Given the description of an element on the screen output the (x, y) to click on. 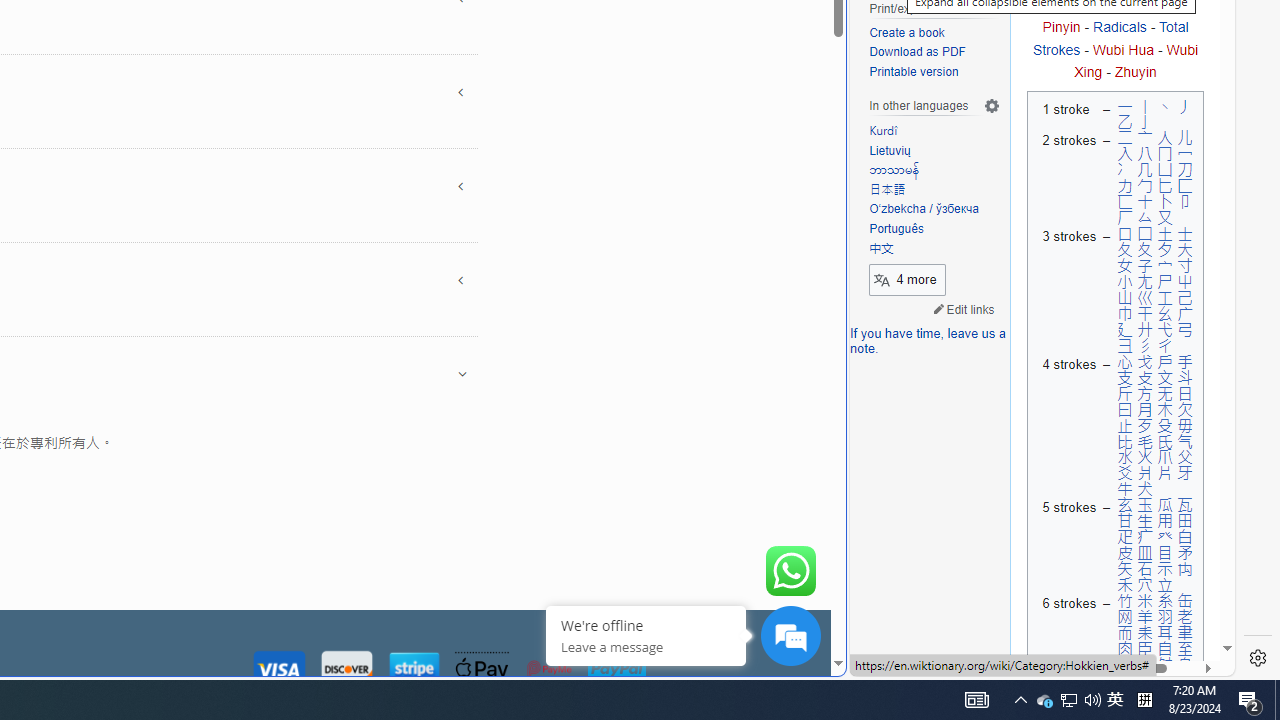
3 strokes (1065, 290)
If you have time, leave us a note. (927, 341)
Edit links (964, 308)
